Given the description of an element on the screen output the (x, y) to click on. 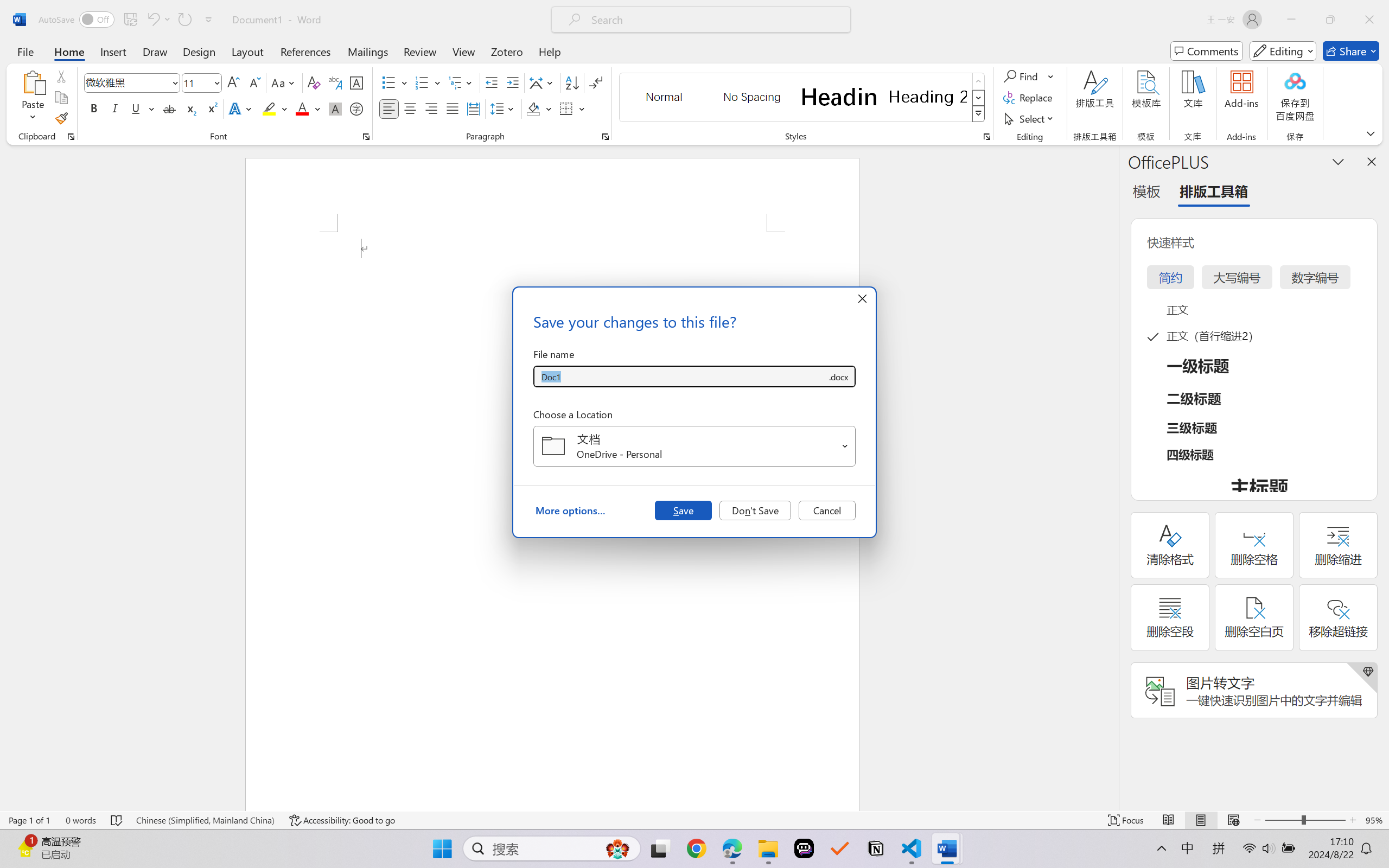
Slide Title and Vertical Text Layout: used by no slides (115, 677)
TextBox (677, 459)
Slide Quote with Caption Layout: used by no slides (115, 303)
